Given the description of an element on the screen output the (x, y) to click on. 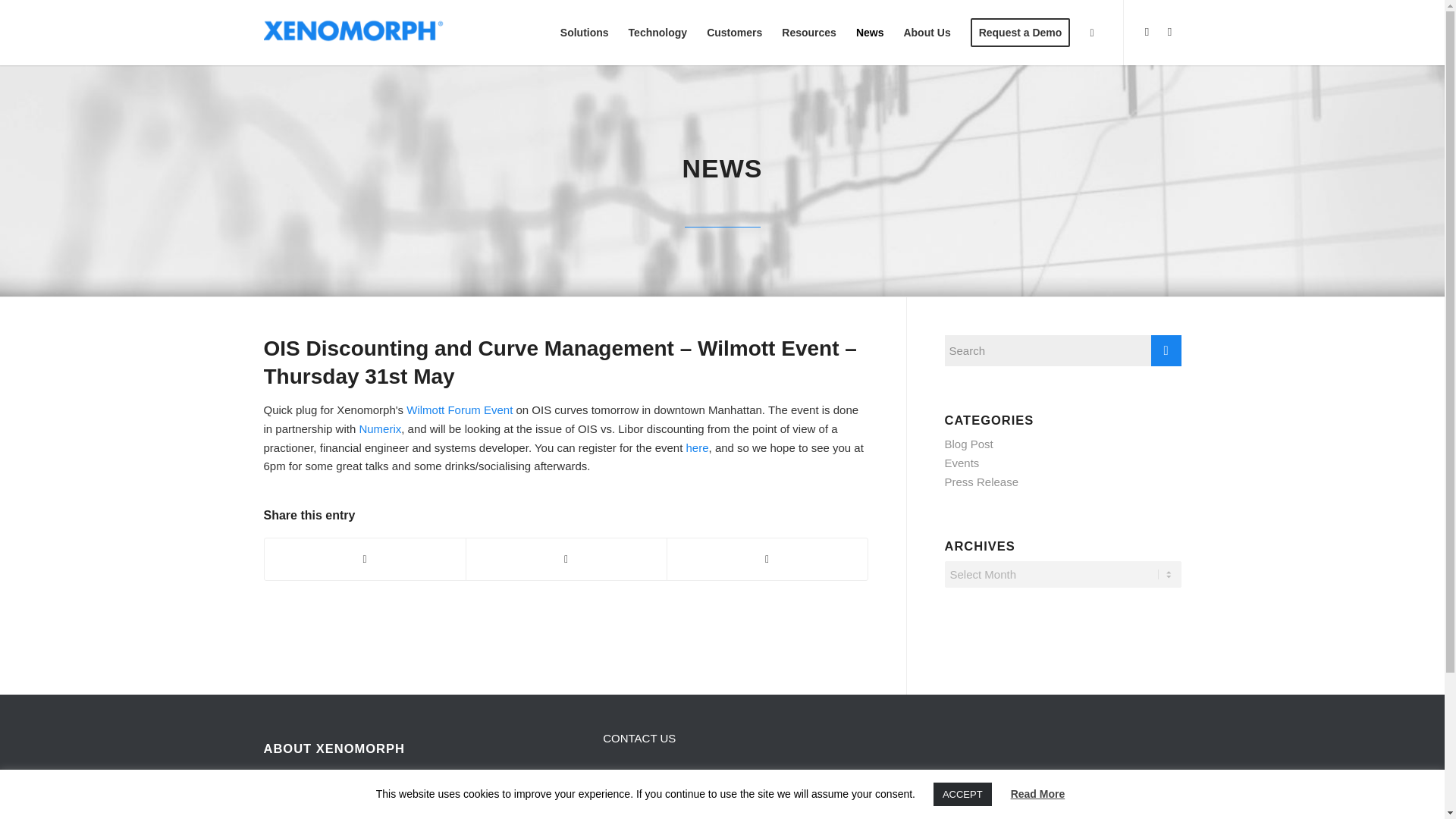
CONTACT US (638, 738)
Twitter (1146, 31)
Request a Demo (1020, 32)
Technology (657, 32)
Numerix (379, 428)
Events (961, 462)
here (697, 447)
OIS Discounting and Curve Management (697, 447)
Solutions (584, 32)
Wilmott Forum Event (459, 409)
